Given the description of an element on the screen output the (x, y) to click on. 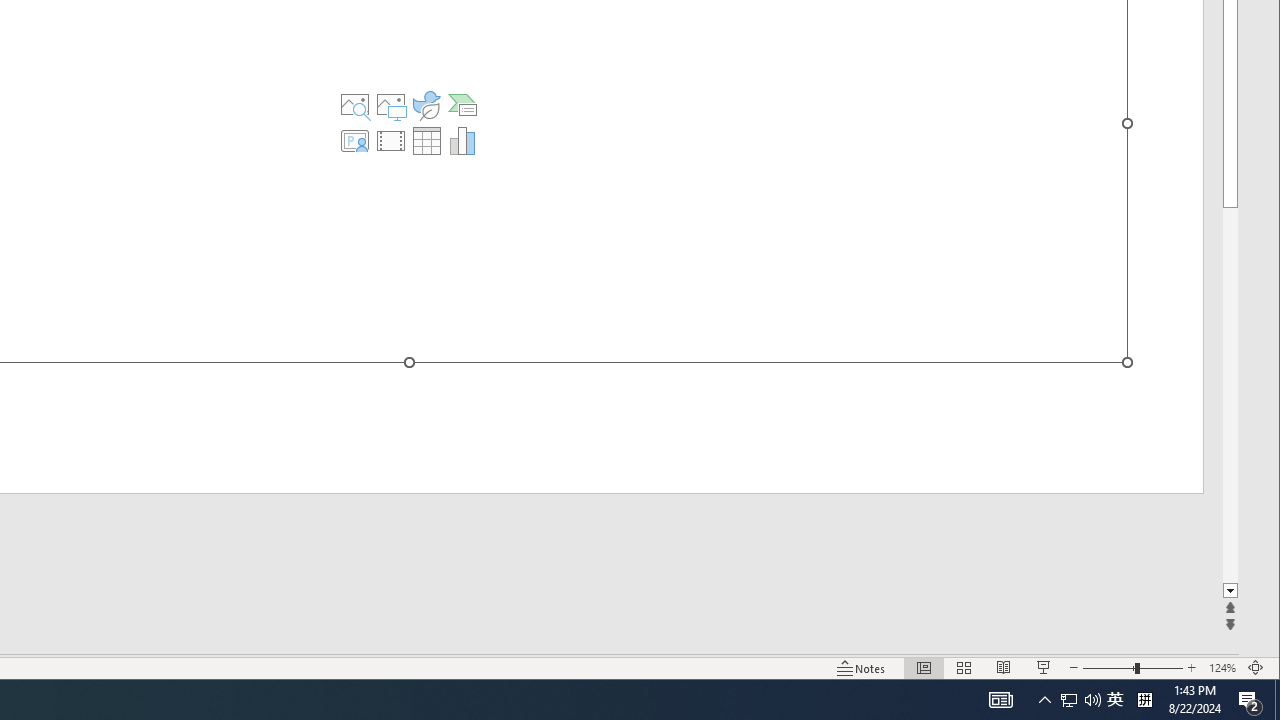
Notification Chevron (1044, 699)
Stock Images (355, 104)
Action Center, 2 new notifications (1250, 699)
Pictures (391, 104)
Zoom In (1191, 668)
Insert Table (426, 140)
Zoom (1132, 668)
Reading View (1004, 668)
Insert Video (391, 140)
Tray Input Indicator - Chinese (Simplified, China) (1144, 699)
Q2790: 100% (1115, 699)
